Given the description of an element on the screen output the (x, y) to click on. 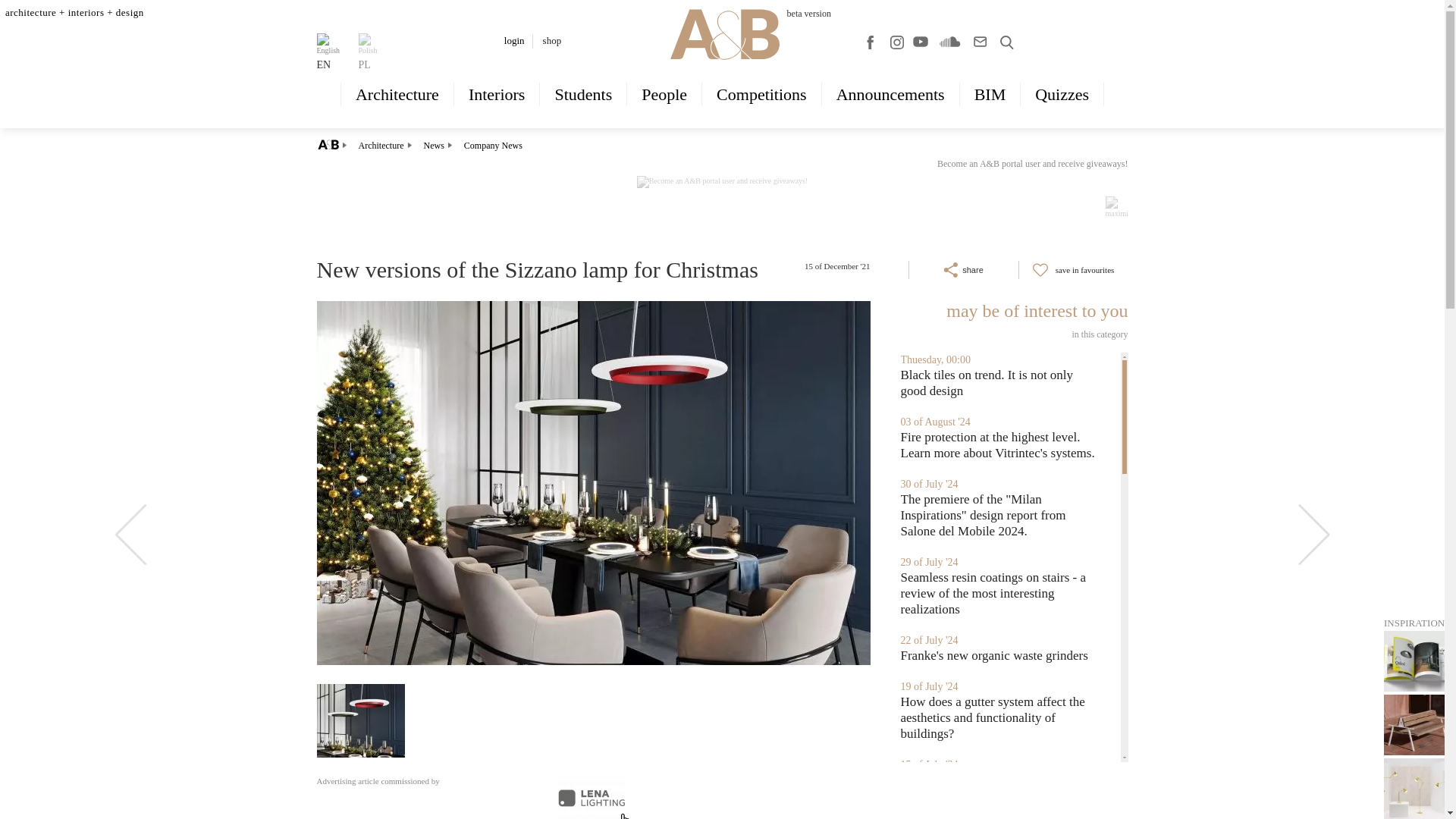
Announcements (889, 94)
Interiors (496, 94)
Architecture (397, 94)
Students (582, 94)
Quizzes (1062, 94)
Competitions (761, 94)
shop (552, 40)
login (513, 40)
